Given the description of an element on the screen output the (x, y) to click on. 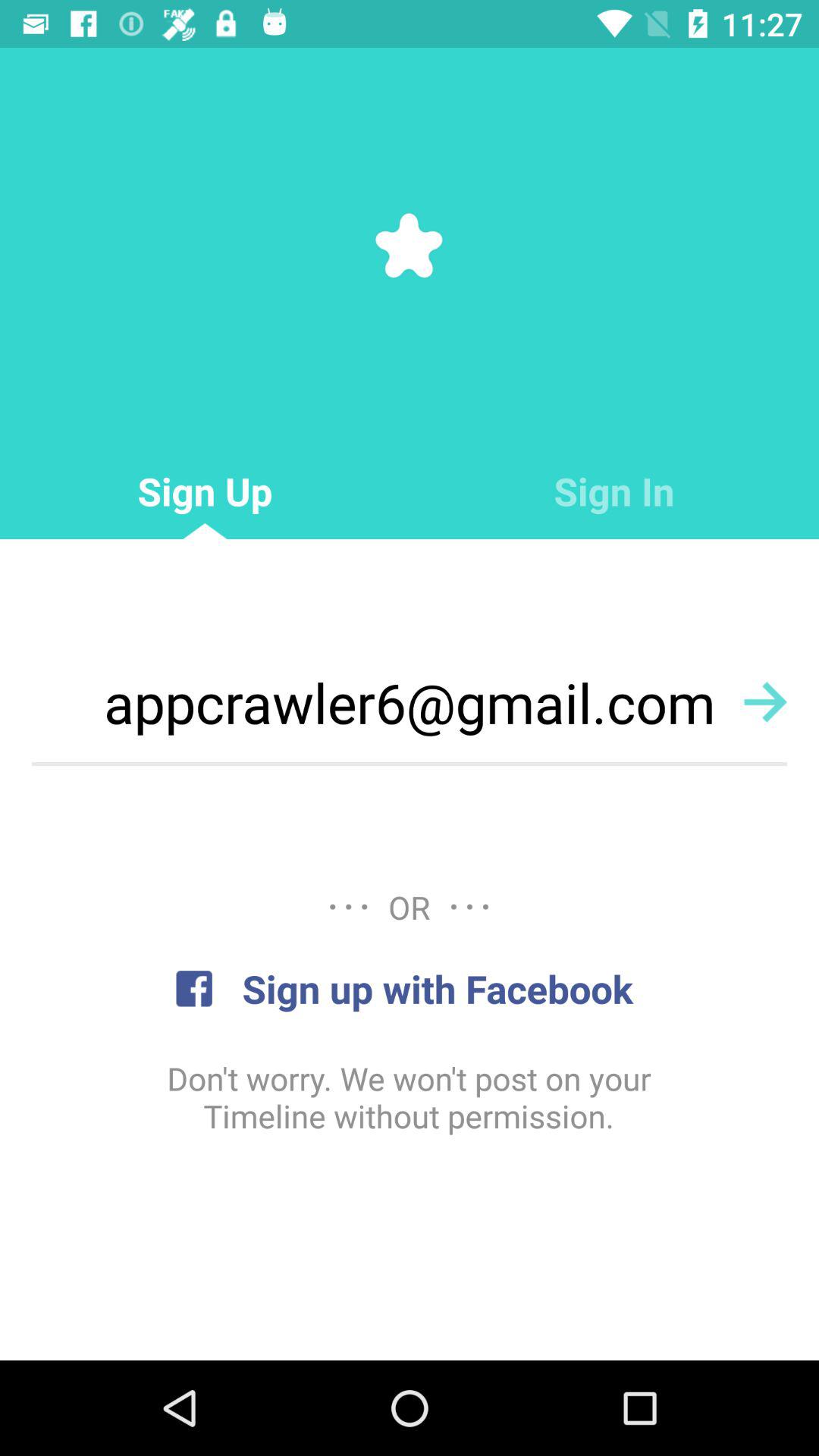
swipe until appcrawler6@gmail.com (409, 702)
